Given the description of an element on the screen output the (x, y) to click on. 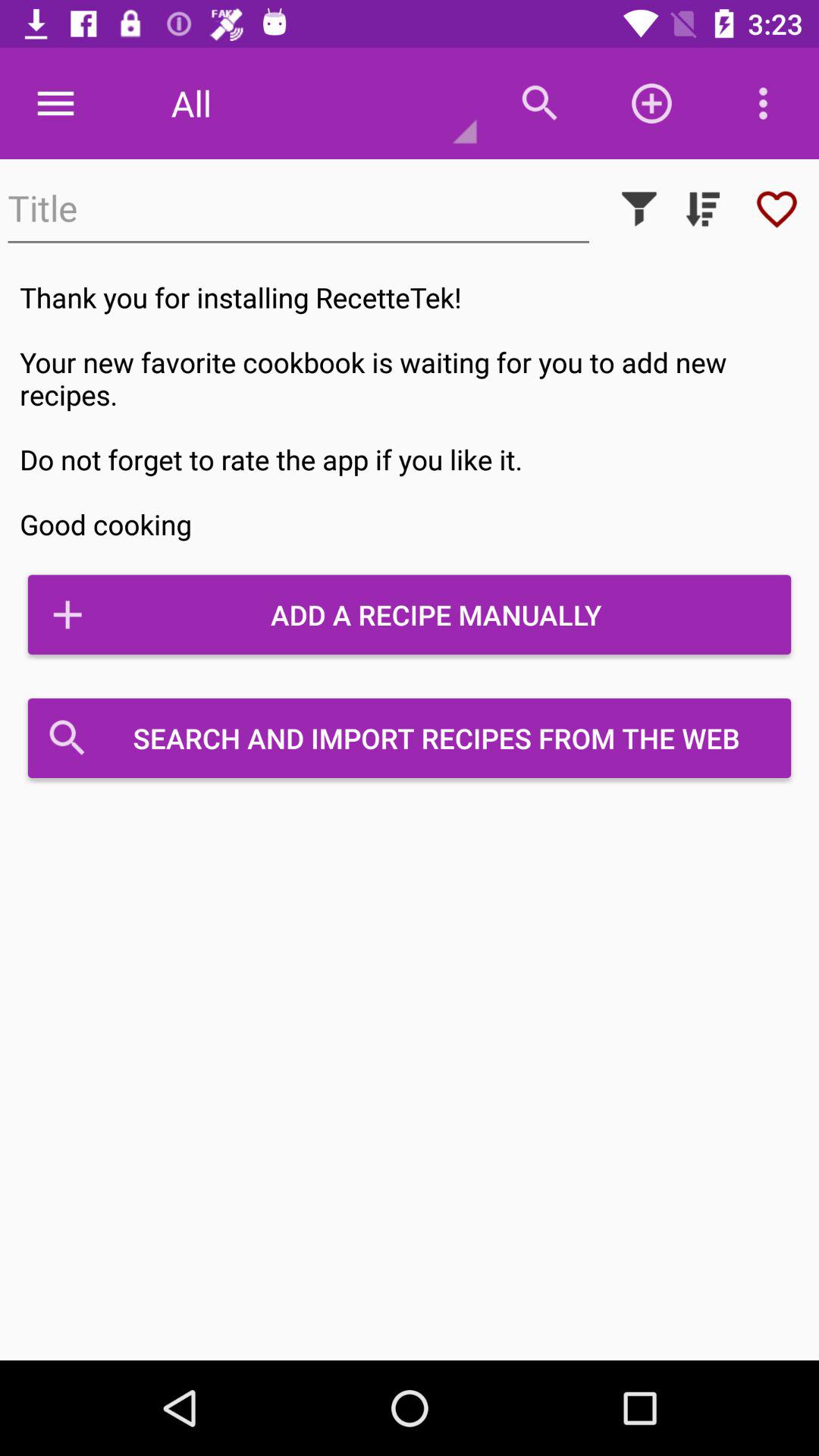
turn on the icon above thank you for (298, 208)
